Given the description of an element on the screen output the (x, y) to click on. 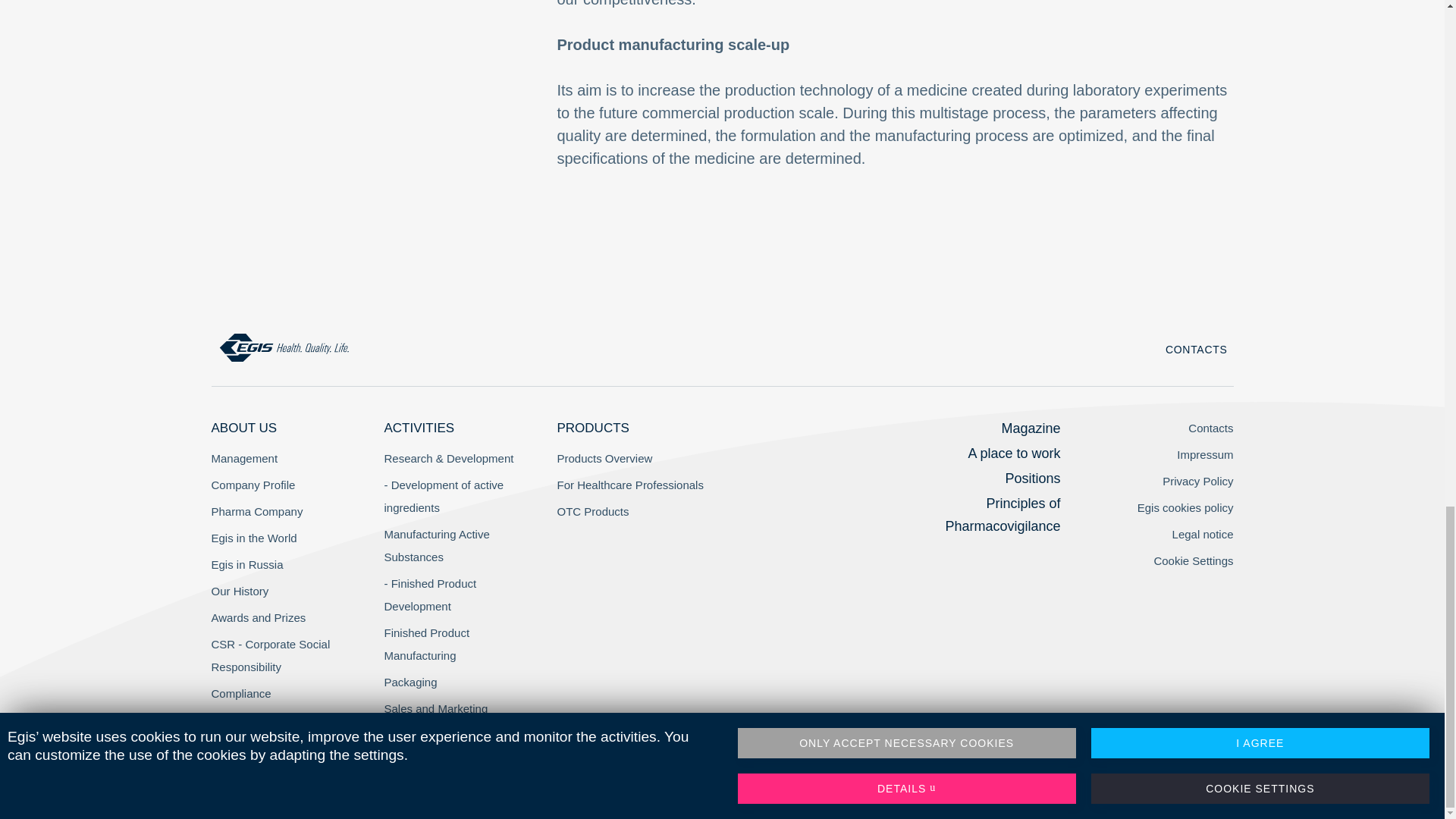
Home (283, 347)
